Given the description of an element on the screen output the (x, y) to click on. 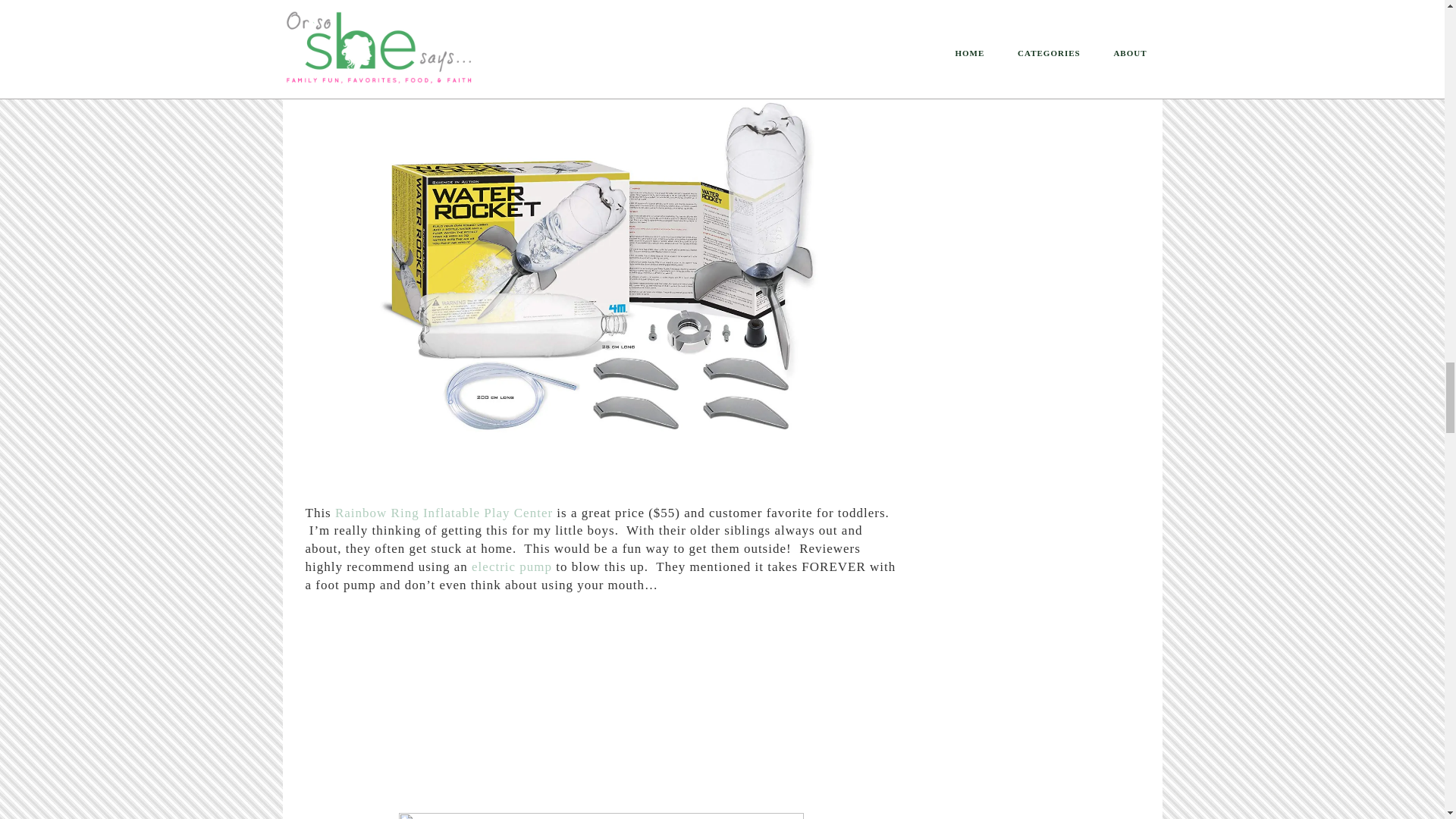
Rainbow Ring Inflatable Play Center (445, 513)
electric pump (511, 566)
